Given the description of an element on the screen output the (x, y) to click on. 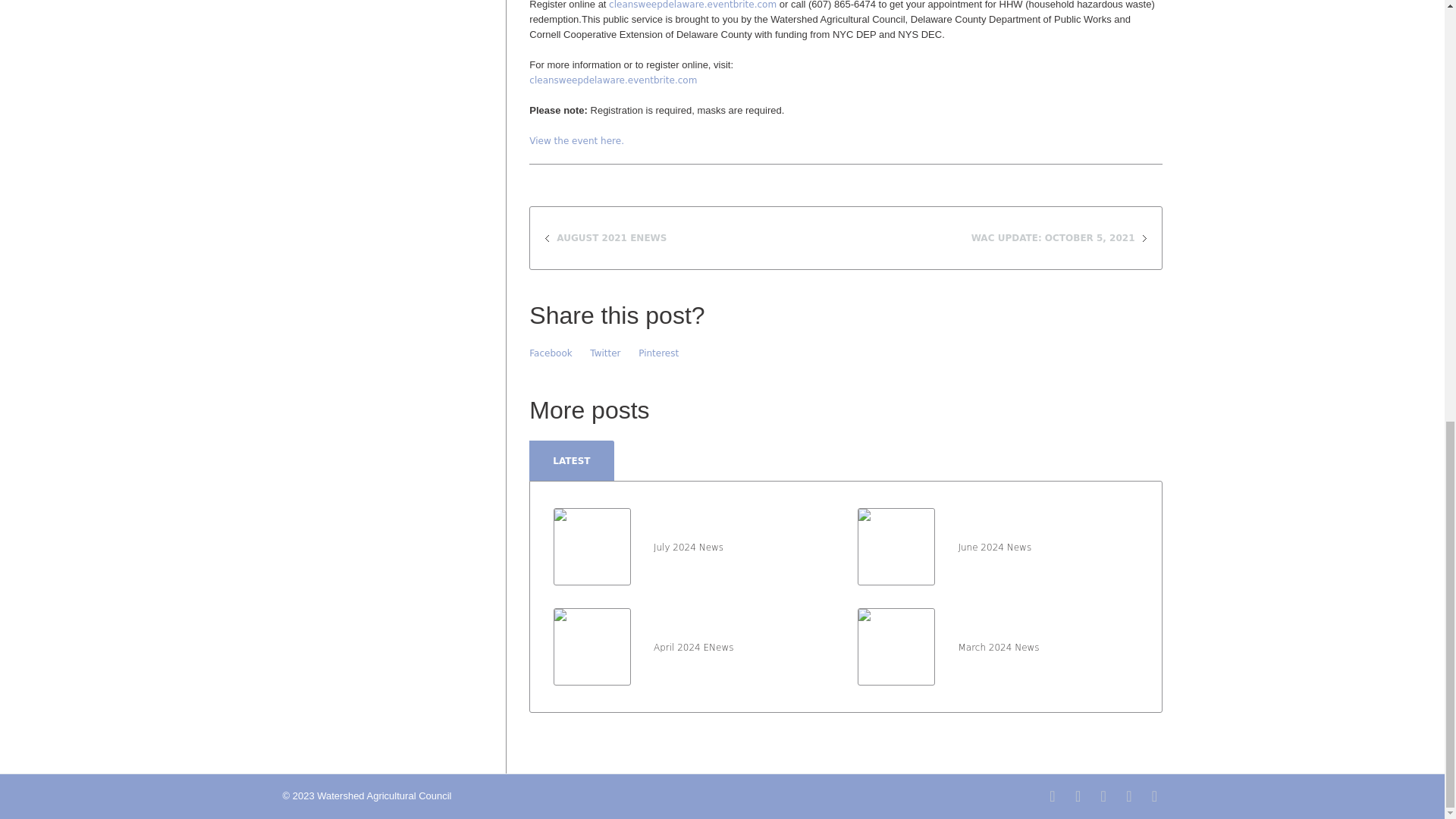
June 2024 News (994, 547)
July 2024 News (688, 547)
June 2024 News (896, 546)
July 2024 News (592, 546)
June 2024 News (896, 545)
July 2024 News (592, 545)
